Given the description of an element on the screen output the (x, y) to click on. 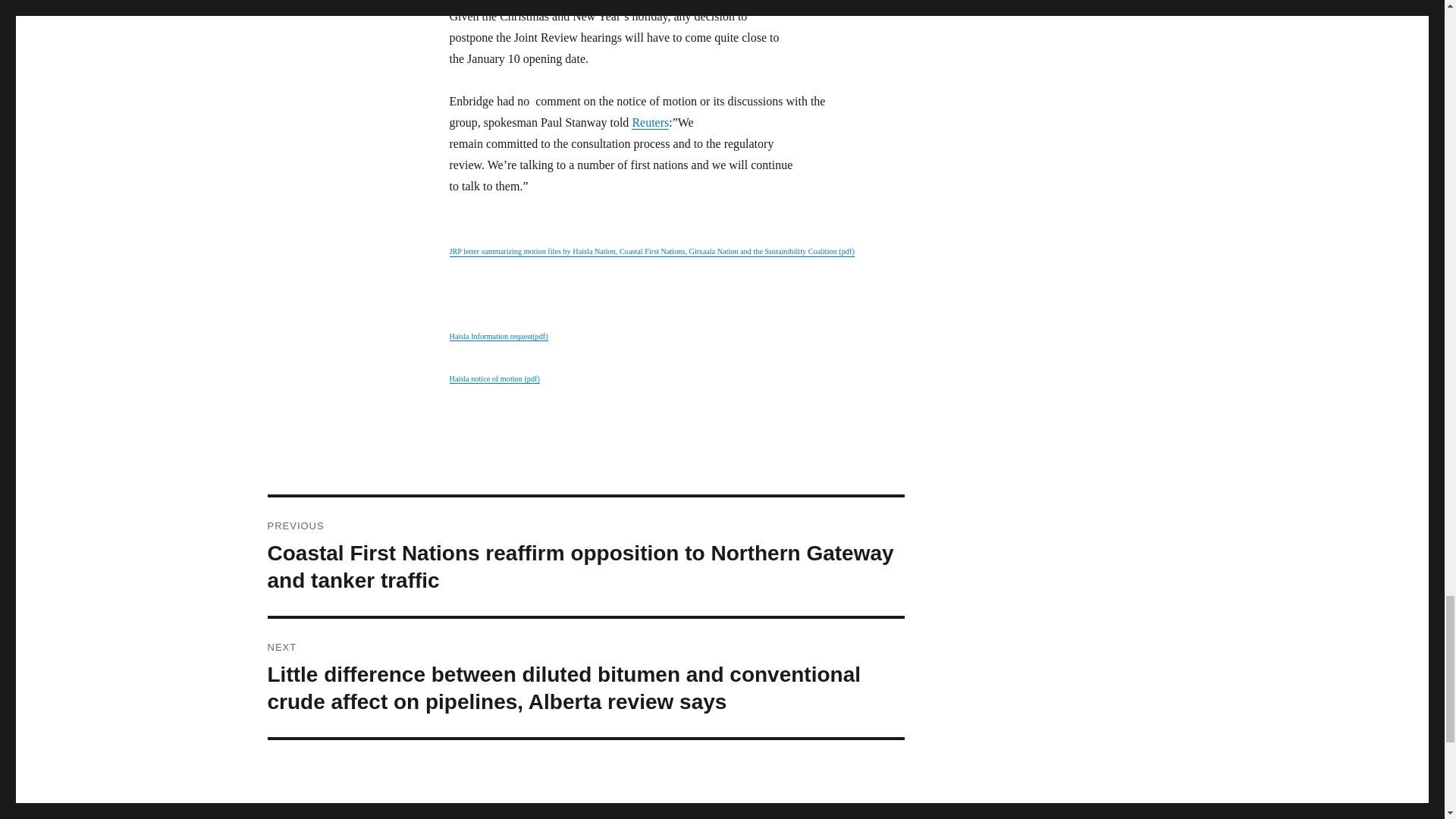
Reuters (649, 122)
